Given the description of an element on the screen output the (x, y) to click on. 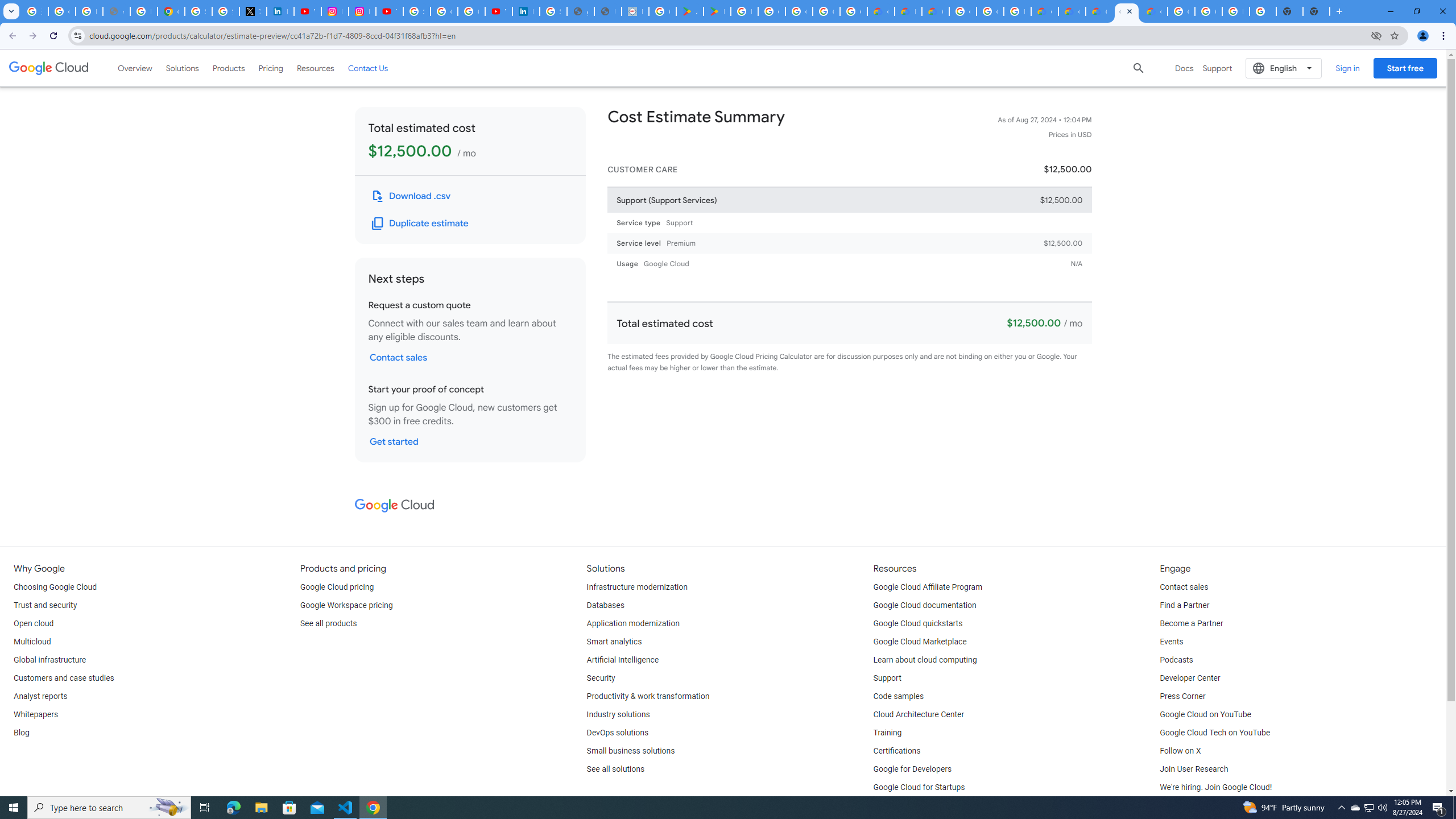
Podcasts (1175, 660)
Gemini for Business and Developers | Google Cloud (935, 11)
support.google.com - Network error (116, 11)
Google Cloud Service Health (1153, 11)
Contact Us (368, 67)
Code samples (898, 696)
Duplicate this estimate (420, 223)
Sign in - Google Accounts (416, 11)
Get started (393, 441)
Security (600, 678)
